Given the description of an element on the screen output the (x, y) to click on. 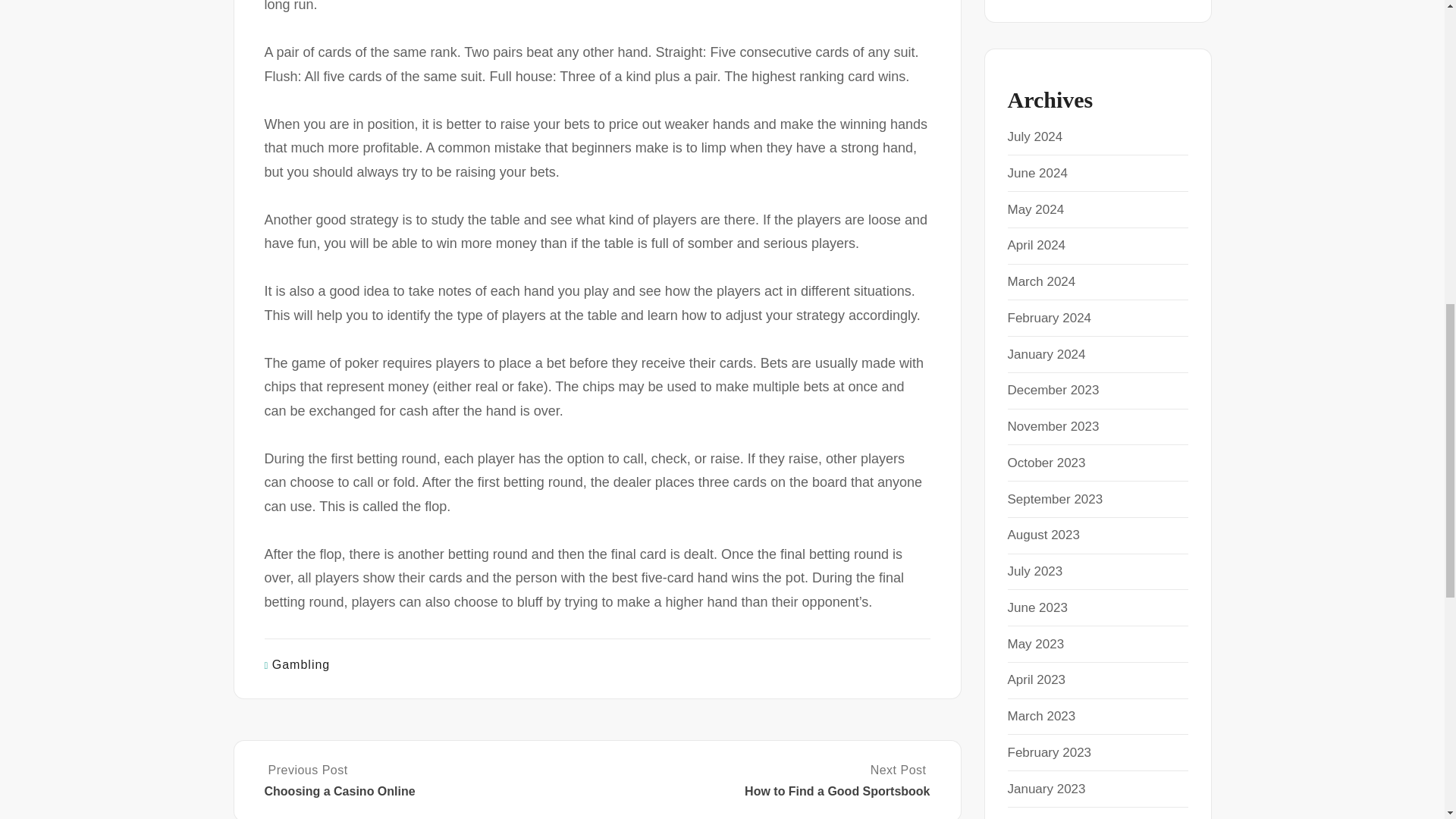
May 2024 (1035, 209)
December 2022 (1053, 818)
February 2023 (1048, 752)
October 2023 (1045, 462)
July 2024 (1034, 136)
Gambling (301, 664)
March 2023 (1041, 716)
February 2024 (1048, 318)
August 2023 (1042, 534)
April 2023 (1036, 679)
January 2023 (1045, 789)
March 2024 (1041, 281)
November 2023 (1053, 426)
